Given the description of an element on the screen output the (x, y) to click on. 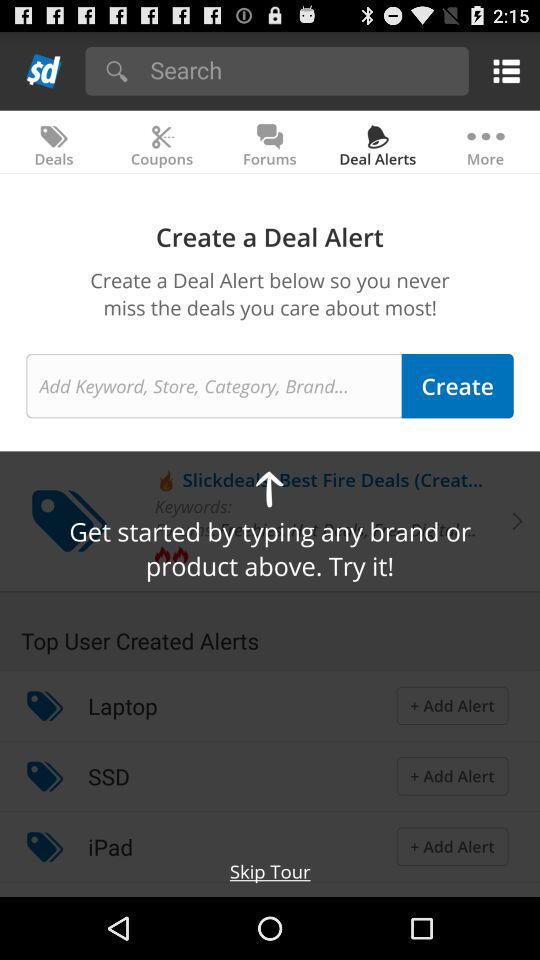
open menu (502, 70)
